Given the description of an element on the screen output the (x, y) to click on. 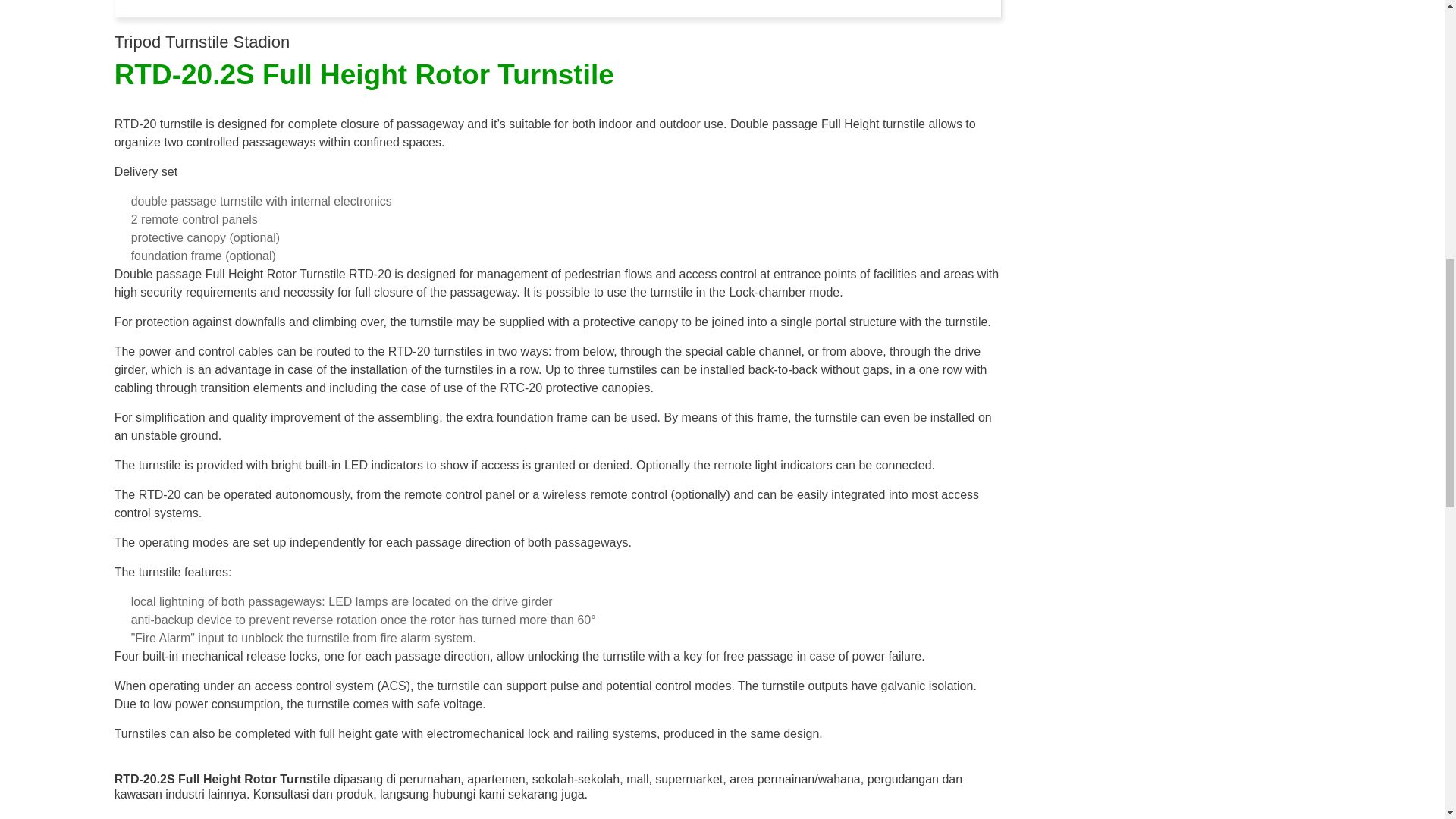
Tripod Turnstile Stadion (202, 41)
Tripod Turnstile Stadion (202, 41)
